Given the description of an element on the screen output the (x, y) to click on. 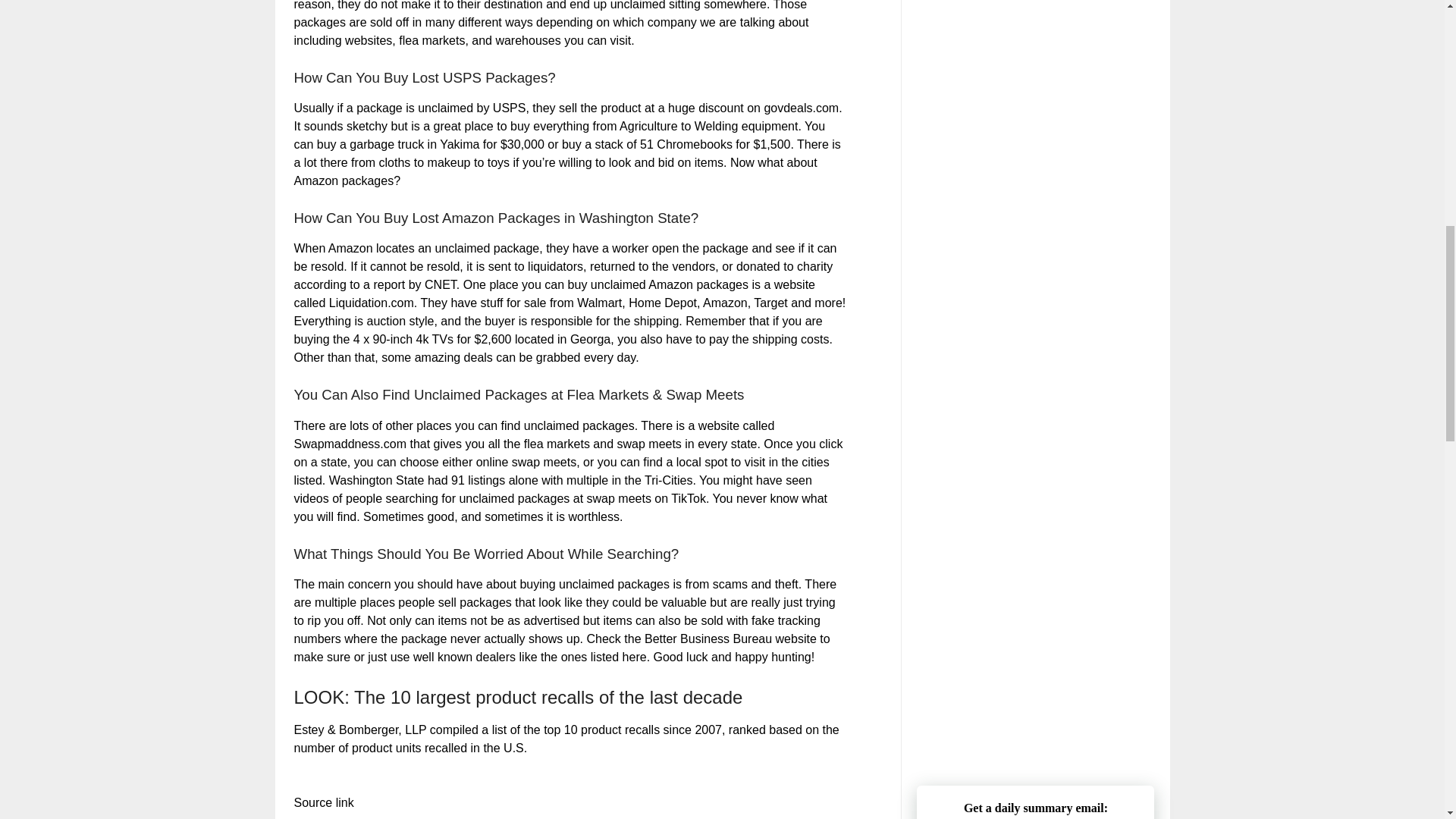
by CNET (433, 284)
Swapmaddness.com (350, 443)
govdeals.com (800, 107)
Liquidation.com (371, 302)
stack of 51 Chromebooks (663, 144)
Better Business Bureau (708, 638)
garbage truck in Yakima (414, 144)
Source link (323, 802)
